Given the description of an element on the screen output the (x, y) to click on. 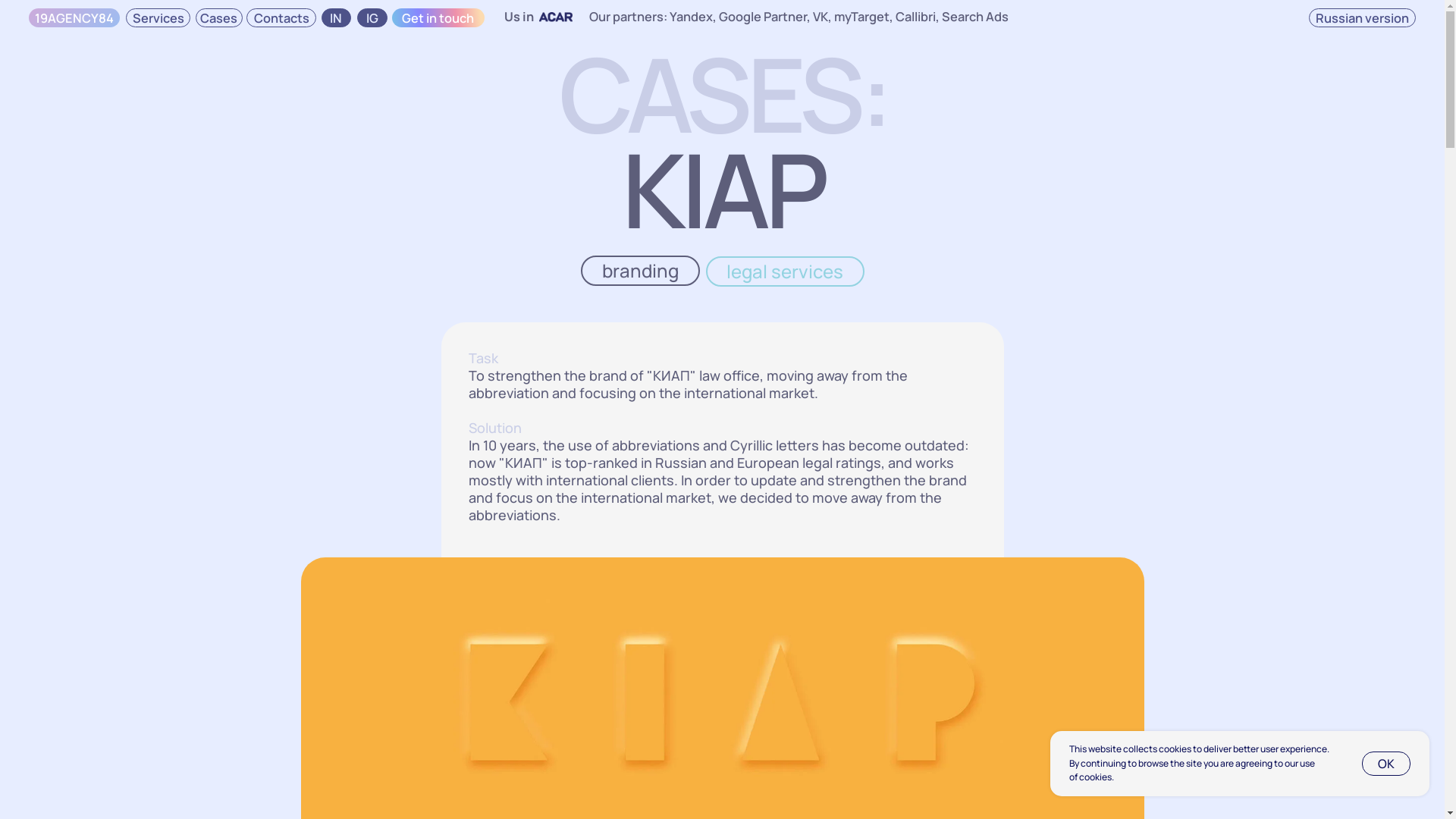
legal services Element type: text (784, 271)
Cases Element type: text (133, 10)
IG Element type: text (226, 10)
IN Element type: text (204, 10)
19AGENCY84 Element type: text (44, 10)
Services Element type: text (96, 10)
Russian version Element type: text (829, 10)
Get in touch Element type: text (266, 10)
Contacts Element type: text (171, 10)
branding Element type: text (639, 270)
